Given the description of an element on the screen output the (x, y) to click on. 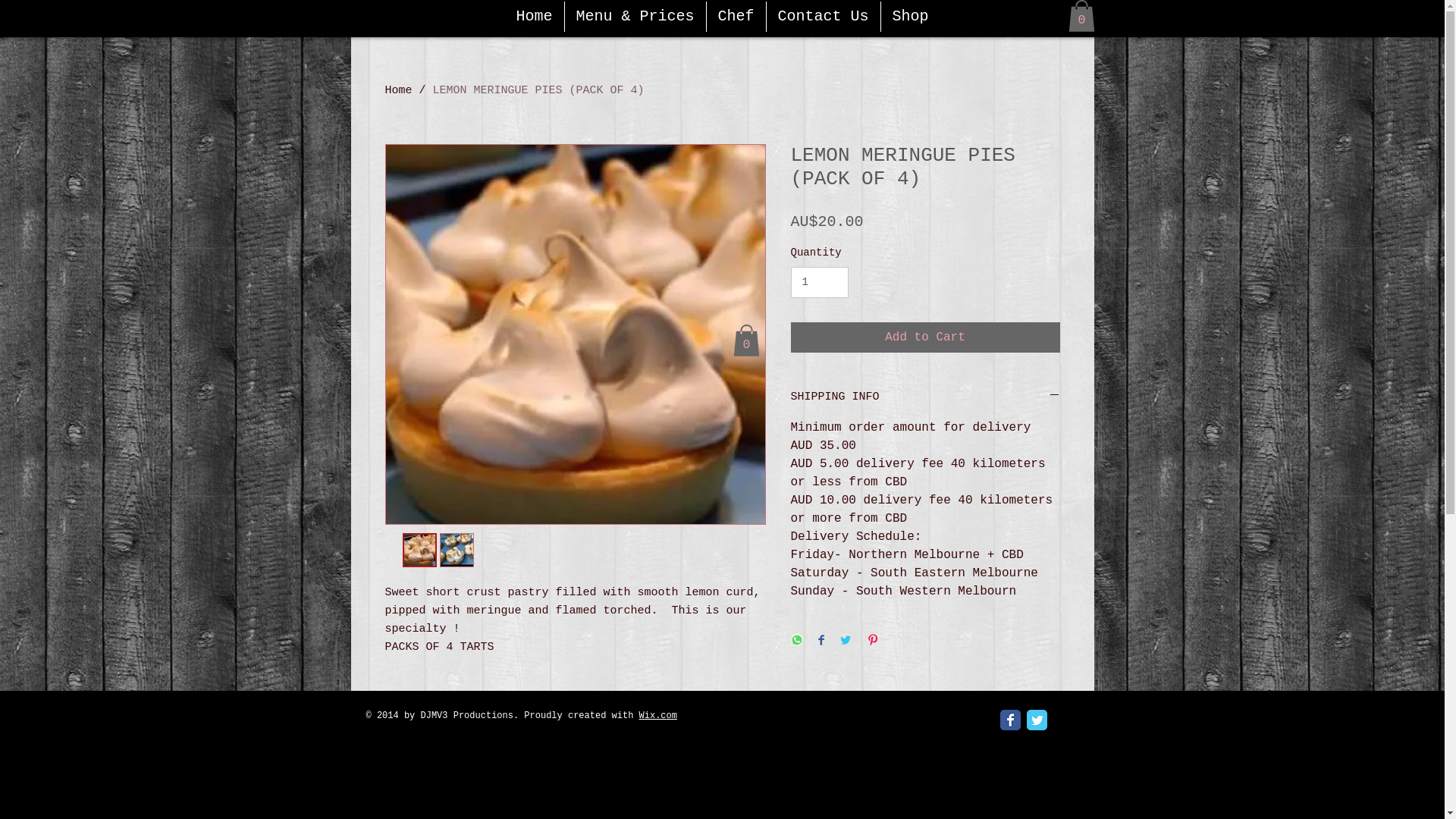
SHIPPING INFO Element type: text (924, 397)
Wix.com Element type: text (658, 715)
Menu & Prices Element type: text (634, 16)
Add to Cart Element type: text (924, 337)
LEMON MERINGUE PIES (PACK OF 4) Element type: text (538, 90)
Home Element type: text (534, 16)
Contact Us Element type: text (822, 16)
0 Element type: text (745, 340)
Shop Element type: text (910, 16)
Home Element type: text (398, 90)
0 Element type: text (1080, 15)
Chef Element type: text (735, 16)
